Given the description of an element on the screen output the (x, y) to click on. 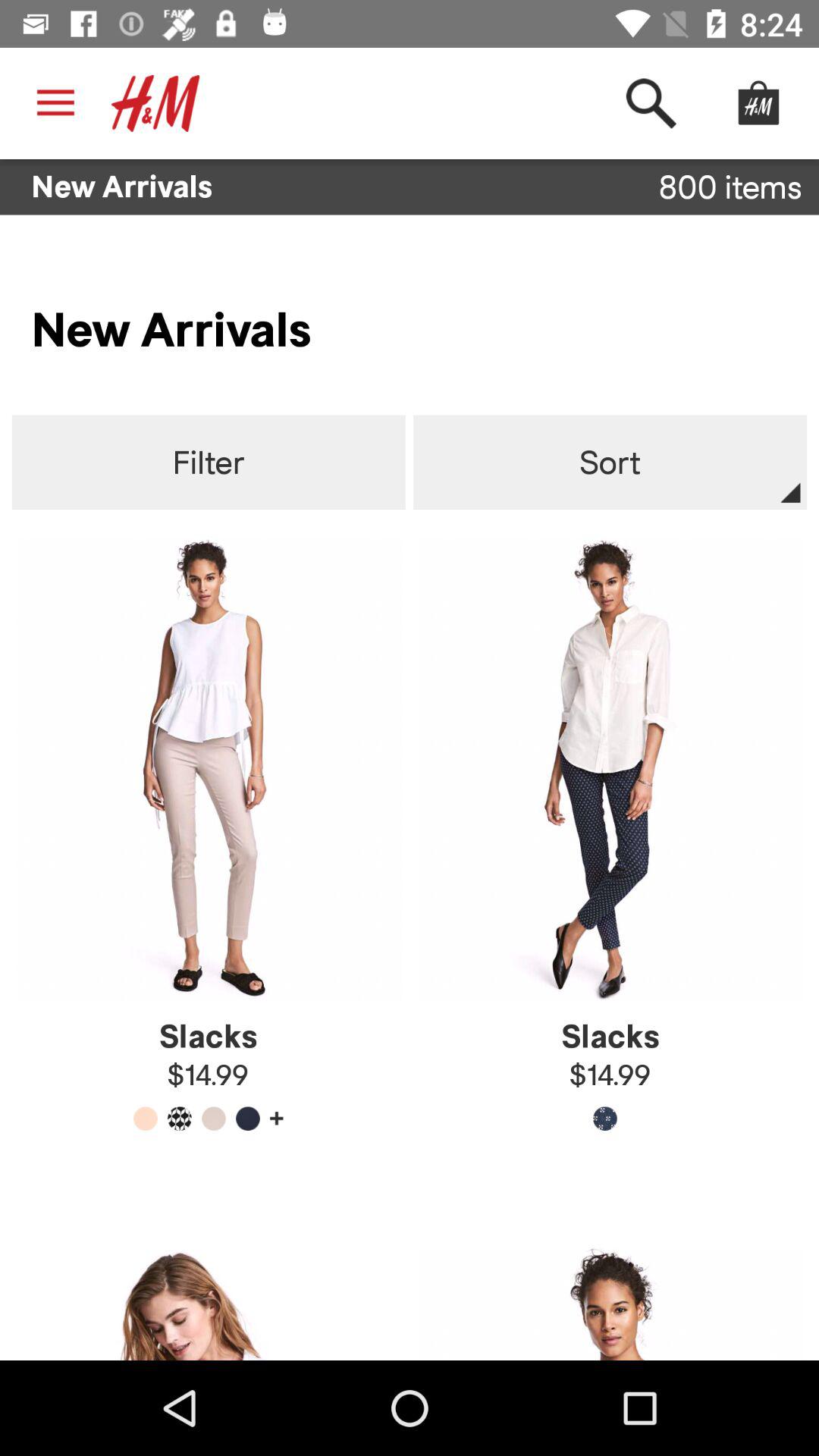
open icon above new arrivals (155, 103)
